Given the description of an element on the screen output the (x, y) to click on. 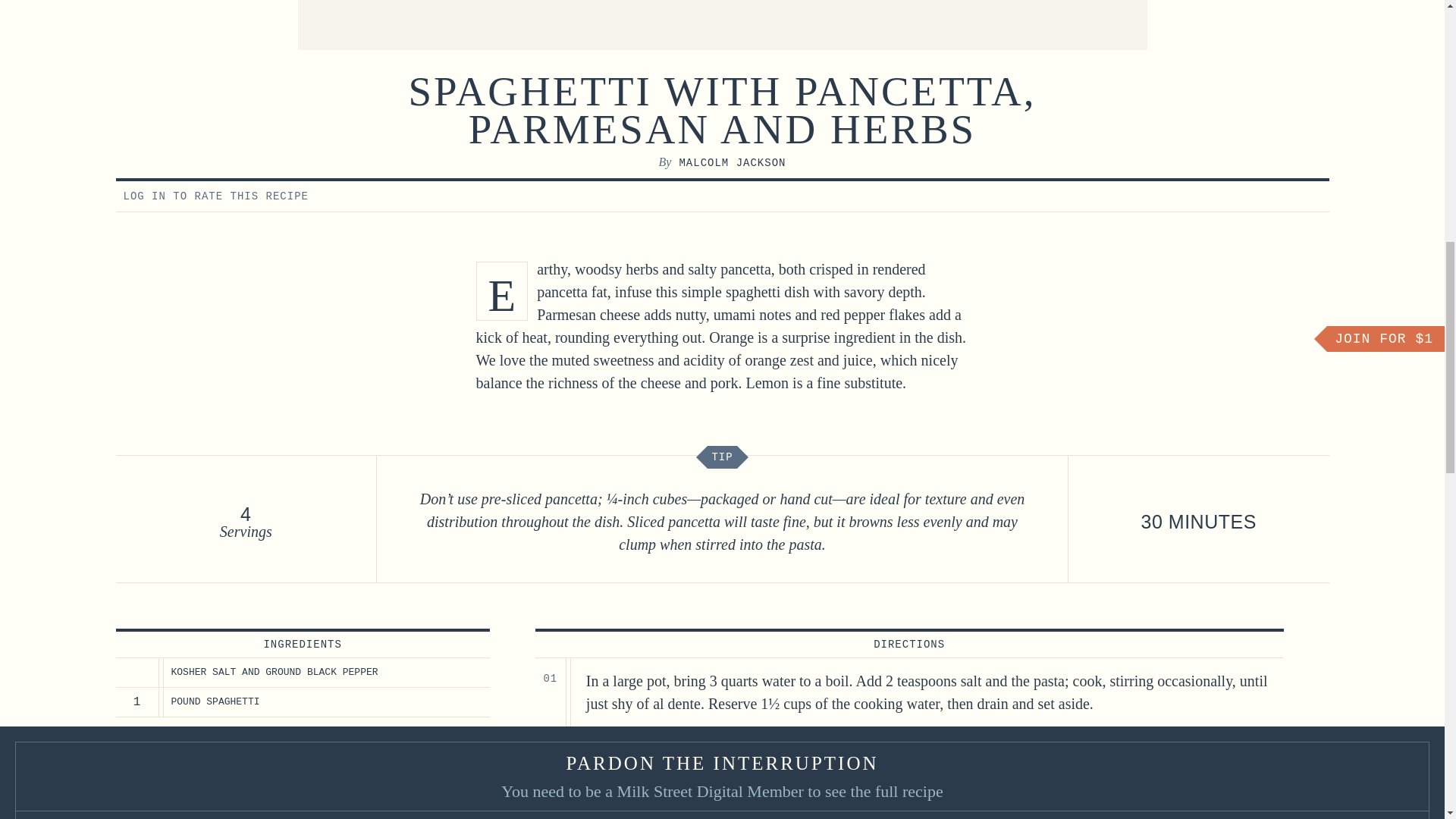
4 ratings (1250, 196)
